Given the description of an element on the screen output the (x, y) to click on. 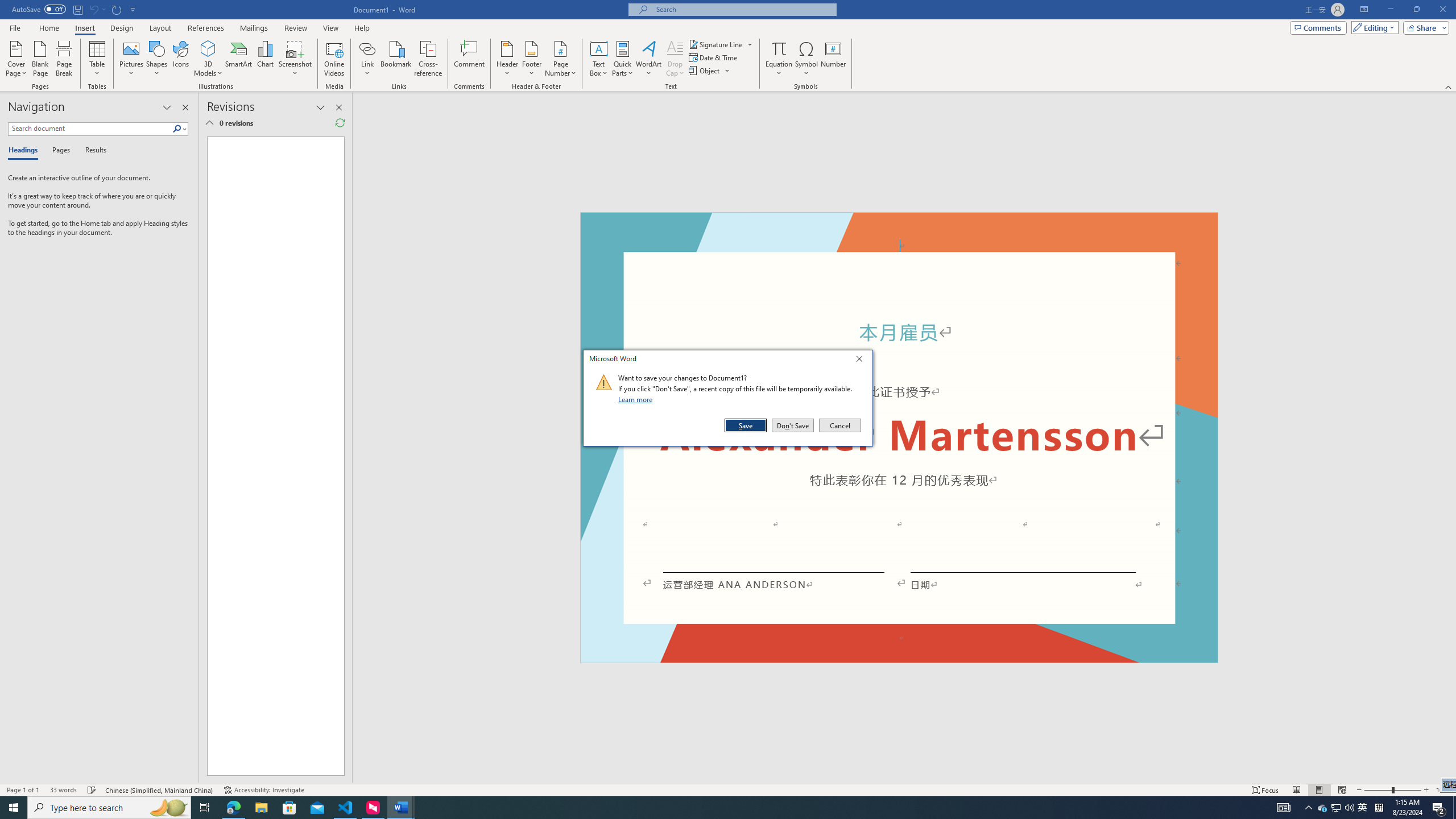
Signature Line (716, 44)
Signature Line (721, 44)
Can't Undo (96, 9)
Microsoft Edge - 1 running window (233, 807)
Show Detailed Summary (209, 122)
Header (507, 58)
Page 1 content (271, 455)
